Given the description of an element on the screen output the (x, y) to click on. 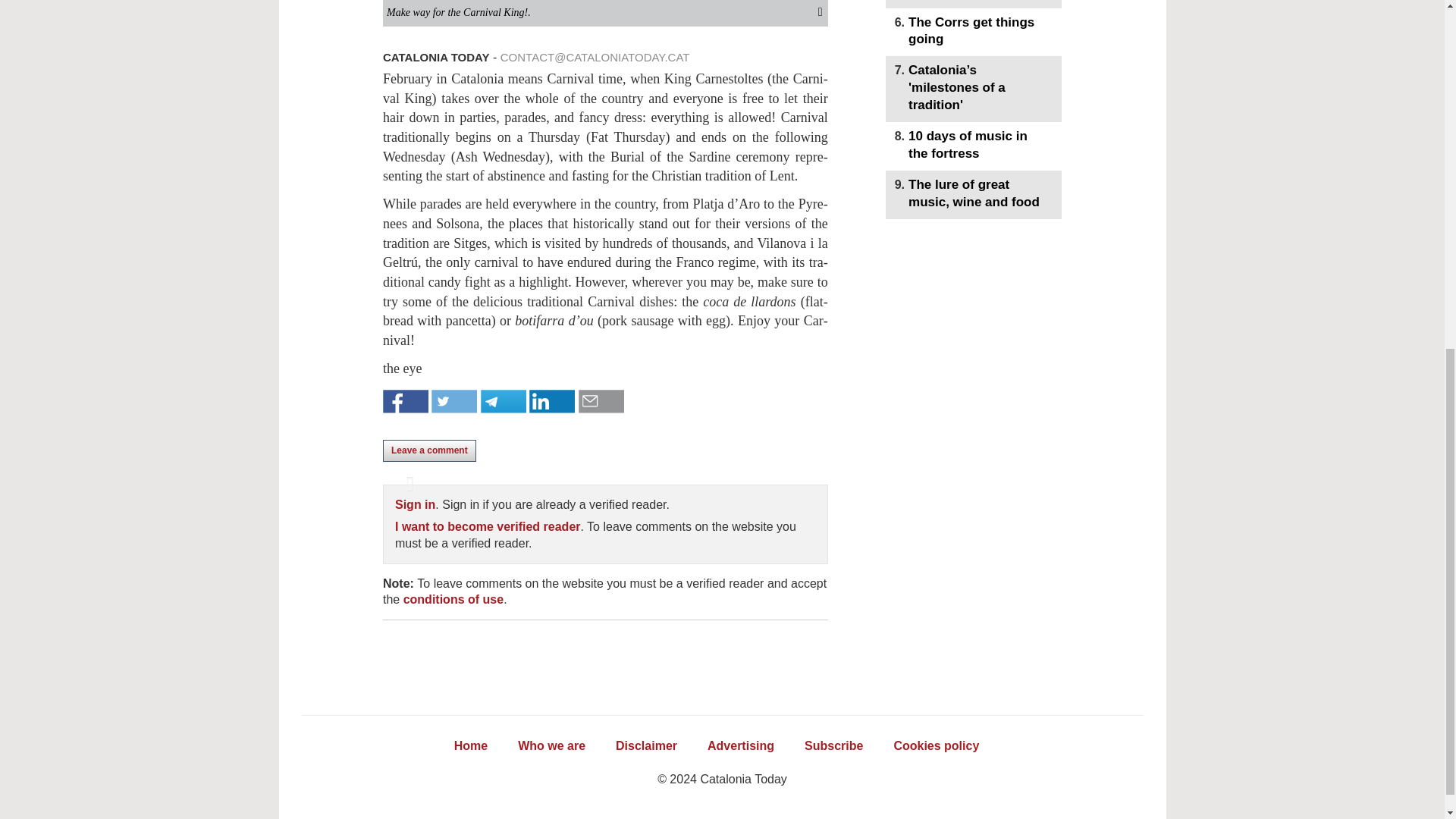
Make way for the Carnival King! (605, 13)
